Given the description of an element on the screen output the (x, y) to click on. 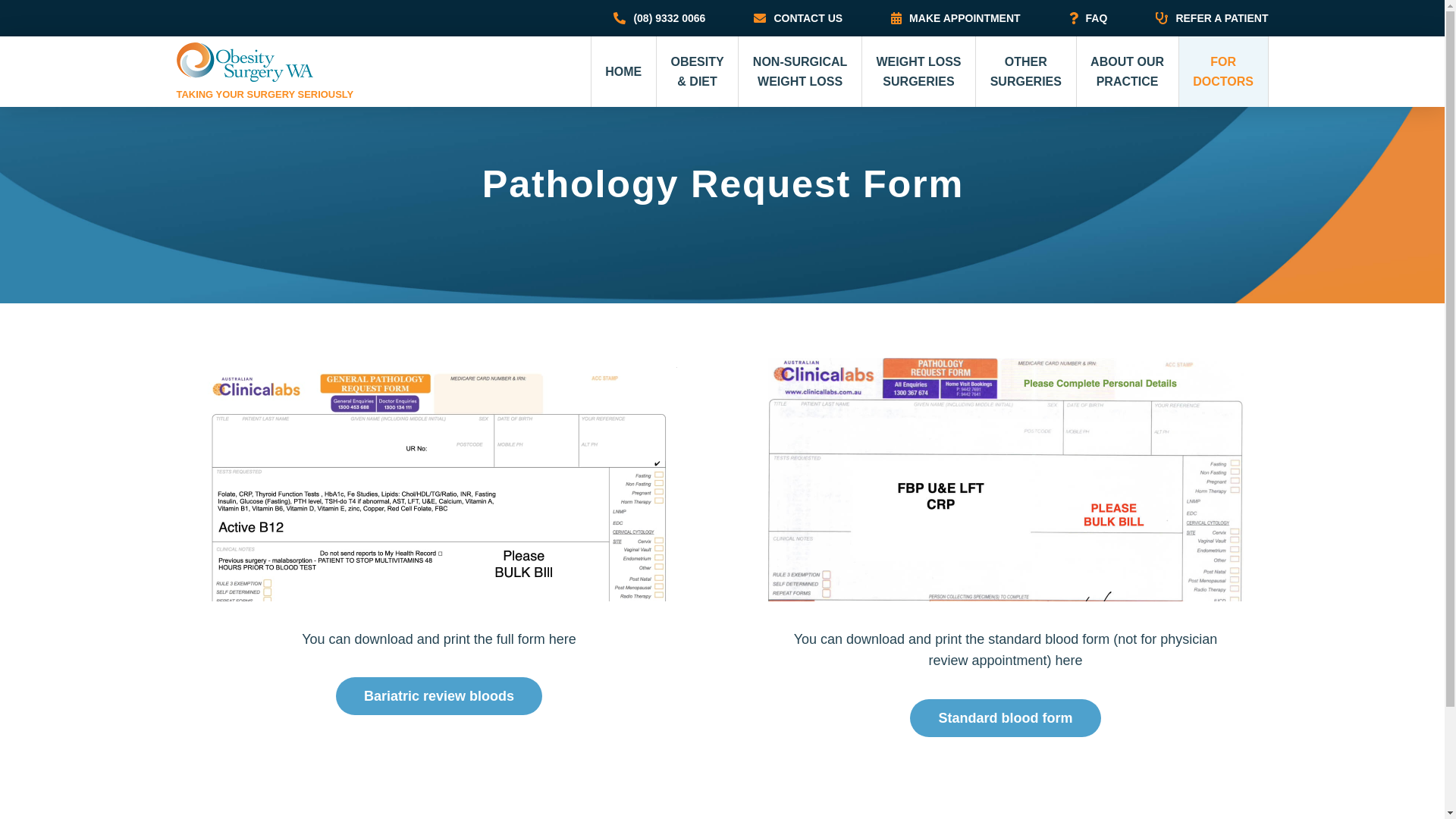
HOME Element type: text (623, 71)
CONTACT US Element type: text (797, 18)
ABOUT OUR
PRACTICE Element type: text (1127, 71)
FAQ Element type: text (1088, 18)
Bariatric review bloods Element type: text (438, 696)
OTHER
SURGERIES Element type: text (1025, 71)
REFER A PATIENT Element type: text (1199, 18)
(08) 9332 0066 Element type: text (659, 18)
WEIGHT LOSS
SURGERIES Element type: text (918, 71)
OBESITY
& DIET Element type: text (697, 71)
FOR
DOCTORS Element type: text (1223, 71)
MAKE APPOINTMENT Element type: text (955, 18)
Standard blood form Element type: text (1005, 718)
NON-SURGICAL
WEIGHT LOSS Element type: text (800, 71)
